Given the description of an element on the screen output the (x, y) to click on. 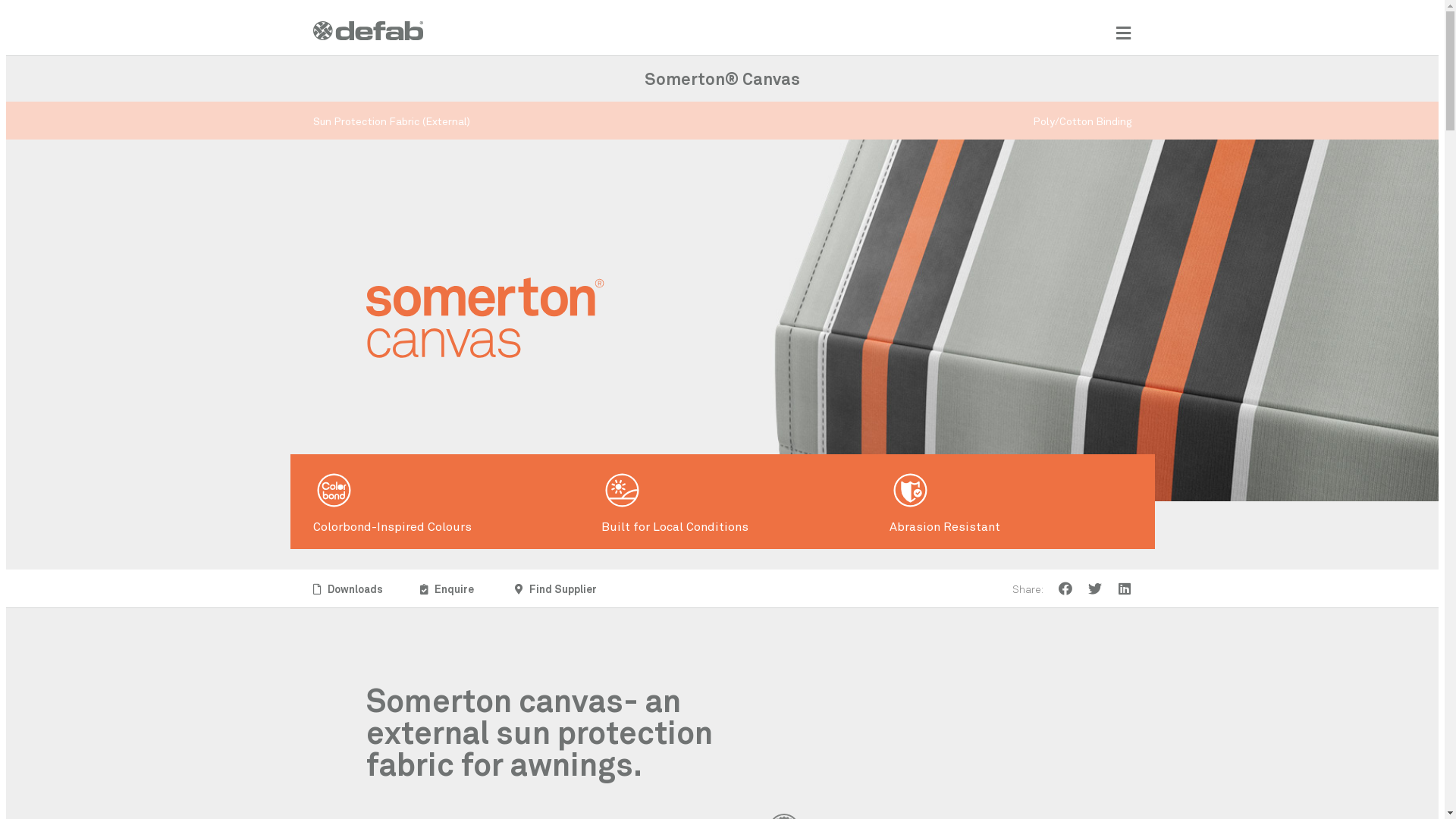
Enquire Element type: text (446, 588)
Find Supplier Element type: text (555, 588)
Downloads Element type: text (347, 588)
Sun Protection Fabric (External) Element type: text (390, 121)
Poly/Cotton Binding Element type: text (1082, 121)
defab-range-hero Element type: hover (721, 48)
